Given the description of an element on the screen output the (x, y) to click on. 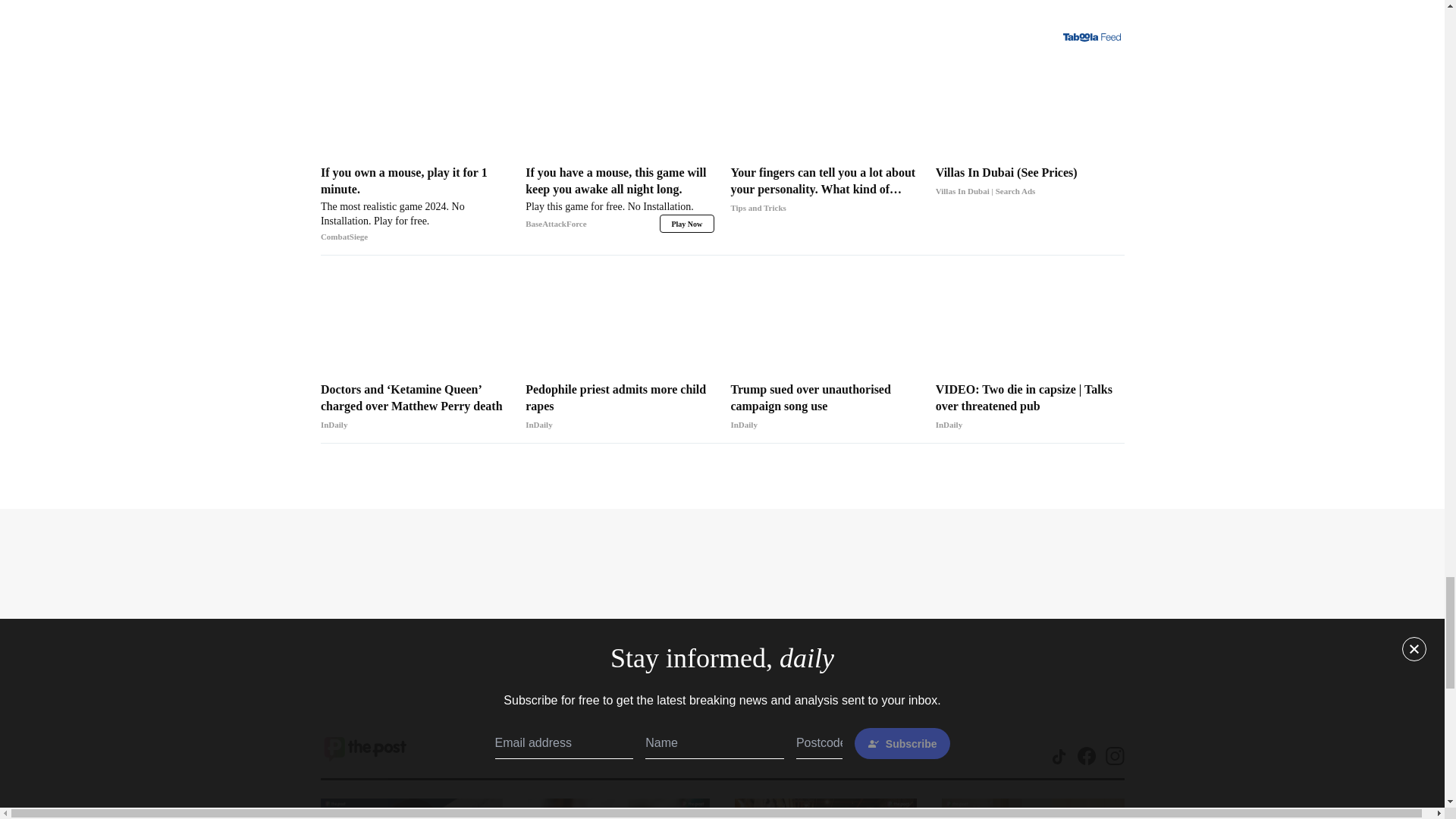
If you own a mouse, play it for 1 minute. (414, 204)
Pedophile priest admits more child rapes (619, 407)
Trump sued over unauthorised campaign song use (824, 407)
